Given the description of an element on the screen output the (x, y) to click on. 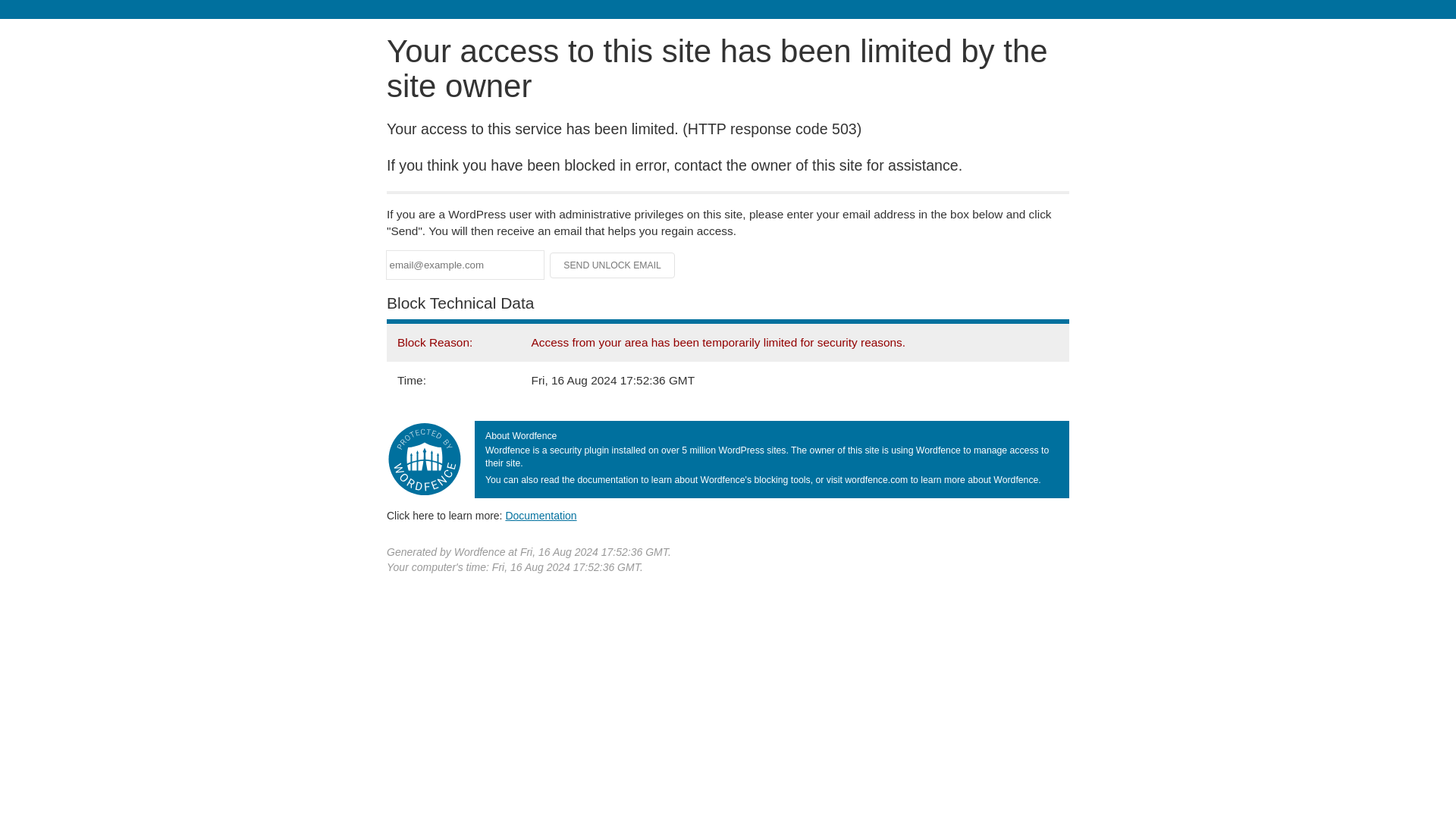
Documentation (540, 515)
Send Unlock Email (612, 265)
Send Unlock Email (612, 265)
